Given the description of an element on the screen output the (x, y) to click on. 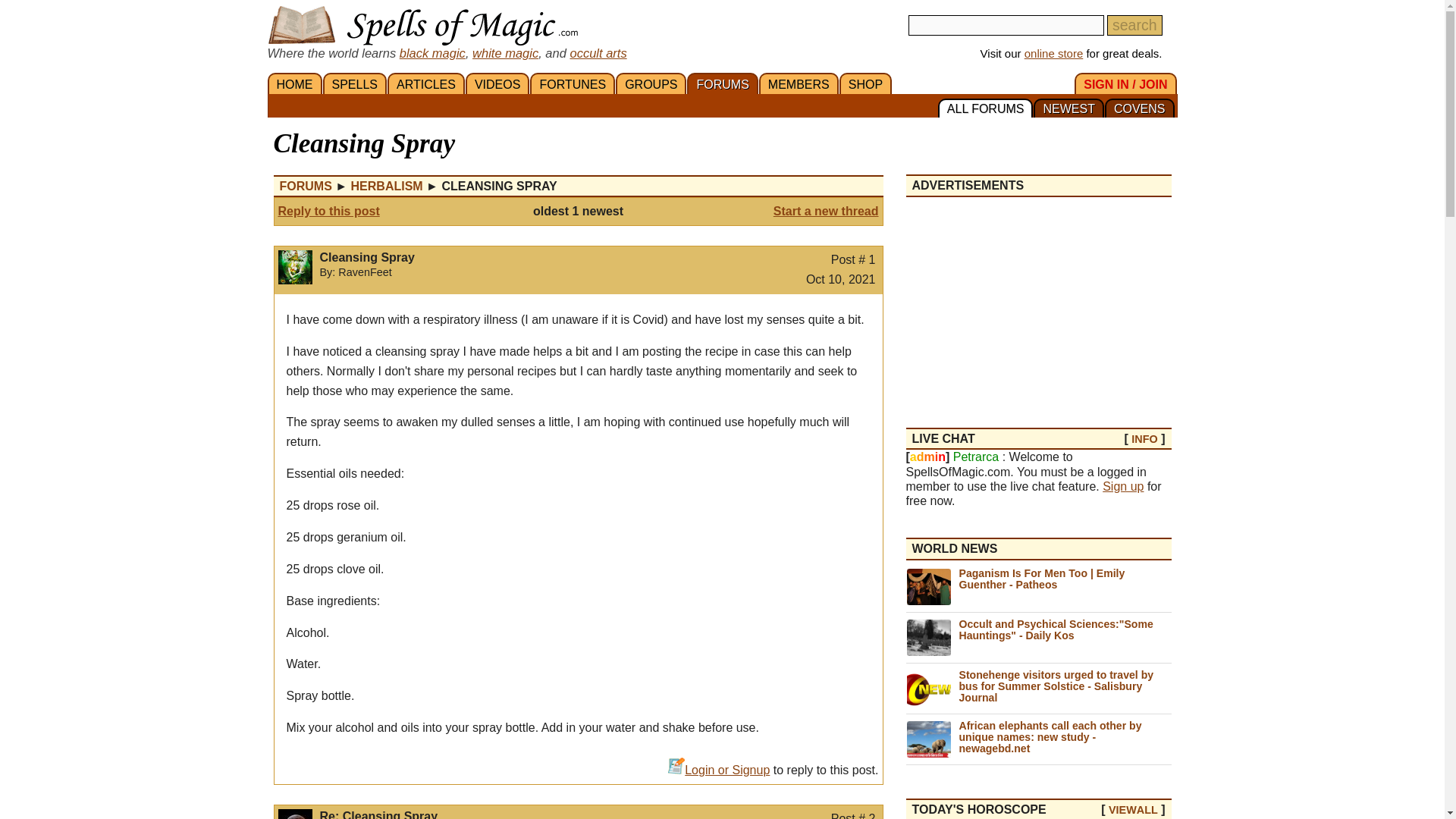
search (1133, 25)
white magic (504, 52)
SPELLS (355, 83)
black magic (431, 52)
occult arts (597, 52)
HOME (293, 83)
online store (1054, 52)
search (1133, 25)
